Given the description of an element on the screen output the (x, y) to click on. 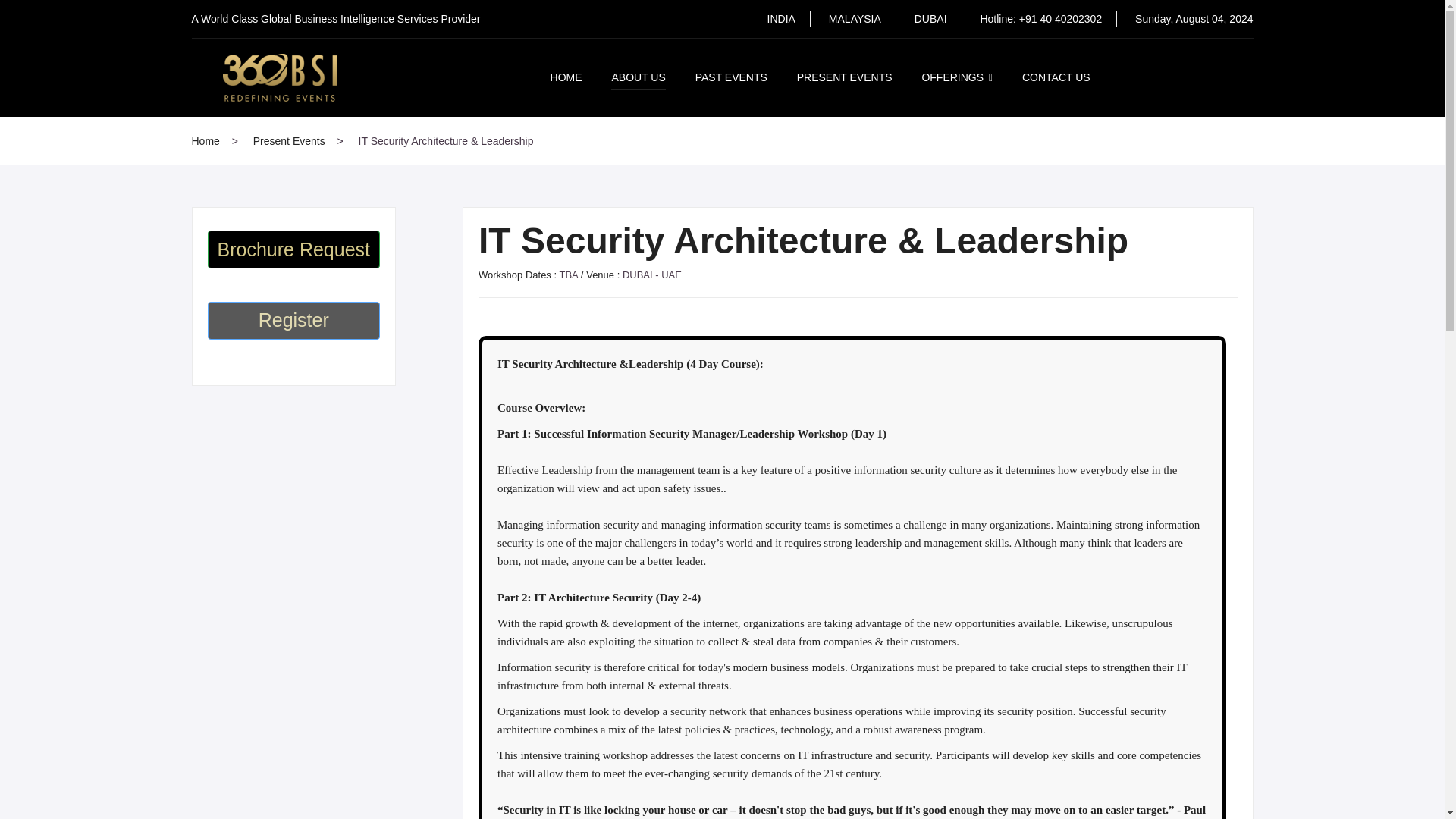
MALAYSIA (854, 19)
INDIA (780, 19)
Register (294, 320)
OFFERINGS (956, 76)
PRESENT EVENTS (844, 76)
DUBAI (930, 19)
ABOUT US (638, 77)
PAST EVENTS (731, 76)
Online Registration (294, 320)
HOME (566, 76)
